Given the description of an element on the screen output the (x, y) to click on. 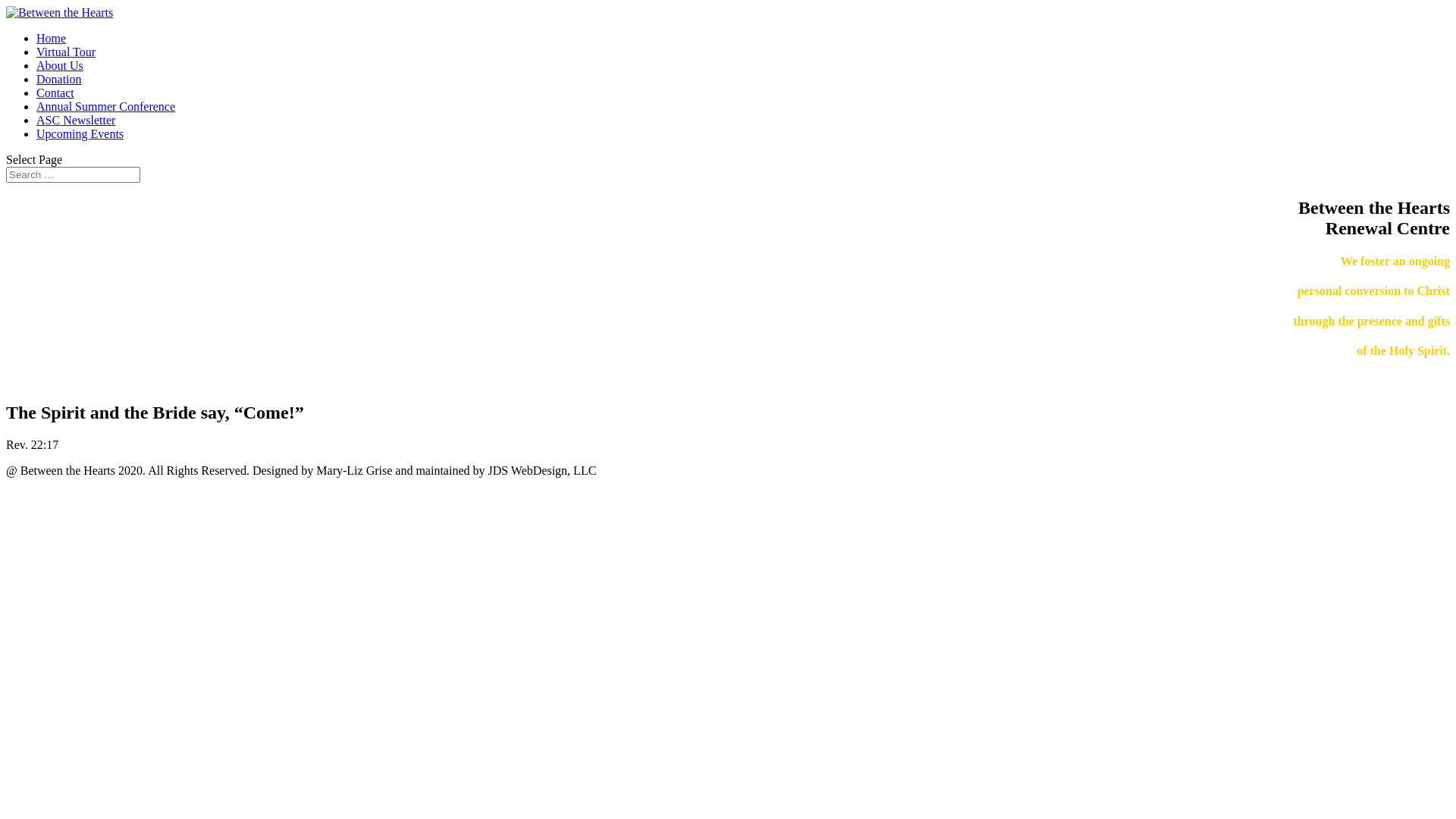
Annual Summer Conference Element type: text (105, 106)
Contact Element type: text (55, 92)
Search for: Element type: hover (73, 174)
Upcoming Events Element type: text (79, 133)
About Us Element type: text (59, 65)
Virtual Tour Element type: text (65, 51)
Home Element type: text (50, 37)
ASC Newsletter Element type: text (75, 119)
Donation Element type: text (58, 78)
